Given the description of an element on the screen output the (x, y) to click on. 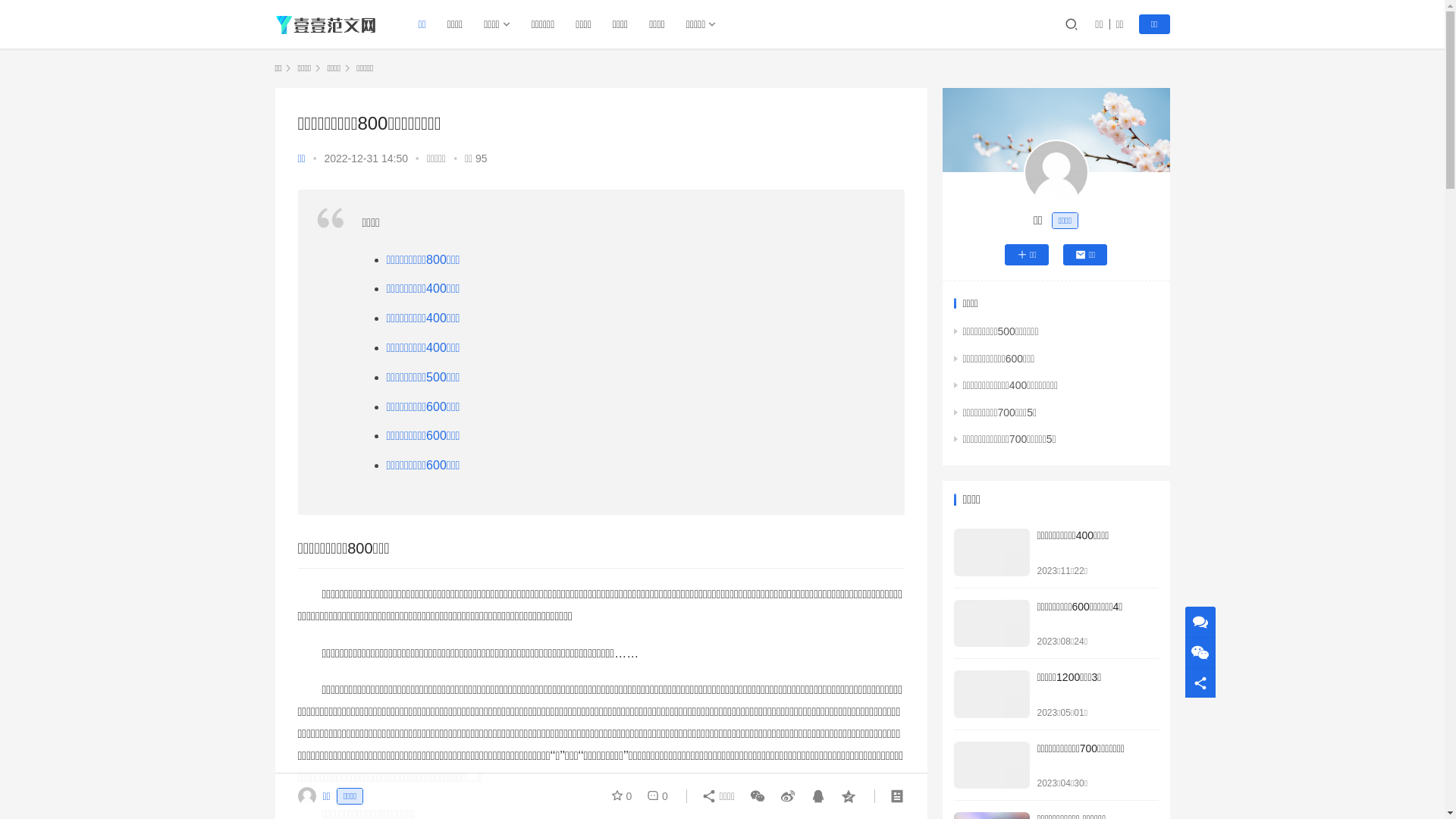
0 Element type: text (654, 796)
0 Element type: text (624, 796)
